Given the description of an element on the screen output the (x, y) to click on. 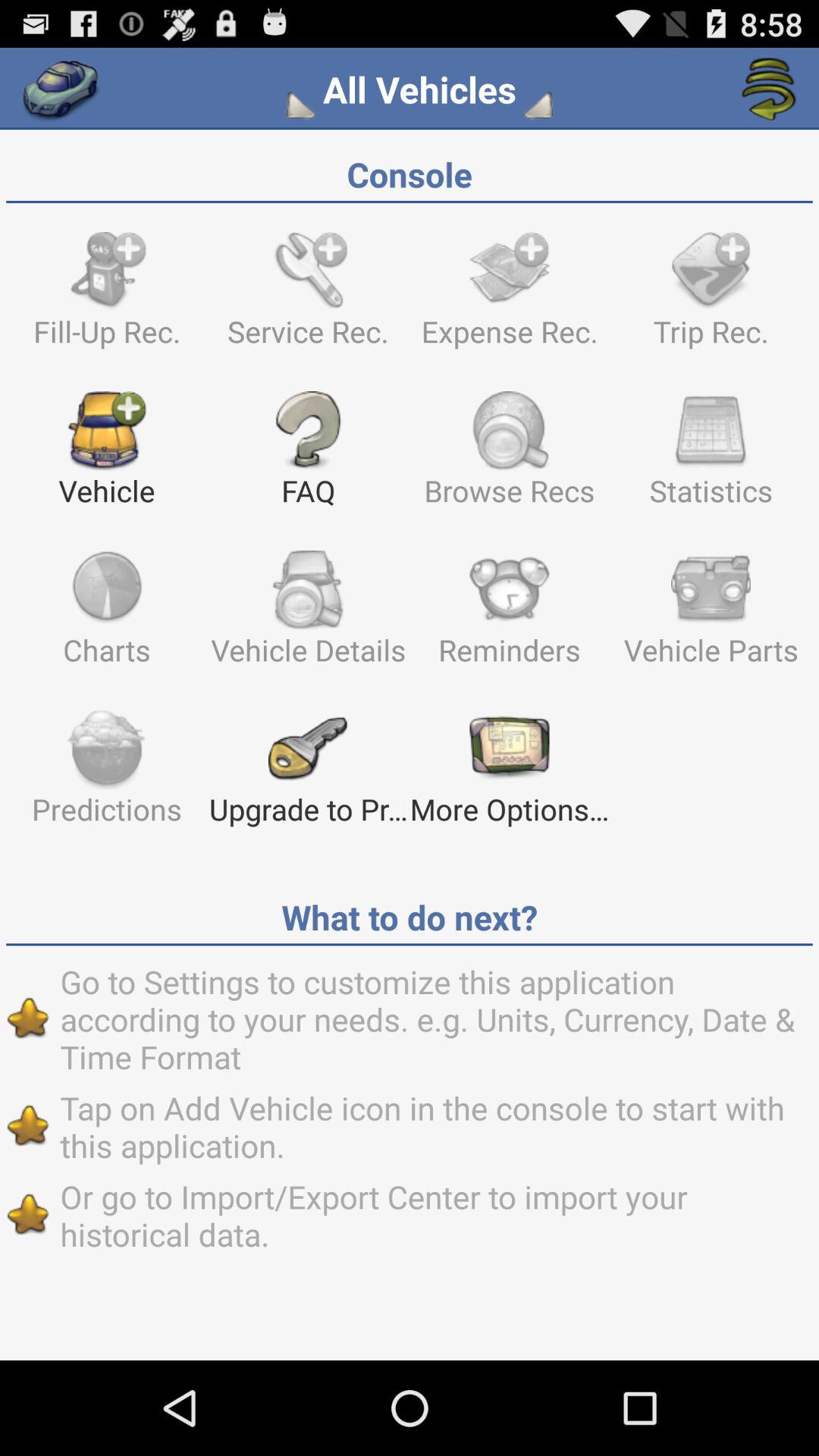
click on the text all vehicles (419, 89)
click on the vehicle image (106, 455)
go to icon which is right to reminders (710, 614)
click on the text which says upgrade to pr (308, 774)
select the fourth row third image along with the text (509, 774)
select the text which says browse recs which is beside  faq (509, 455)
